Given the description of an element on the screen output the (x, y) to click on. 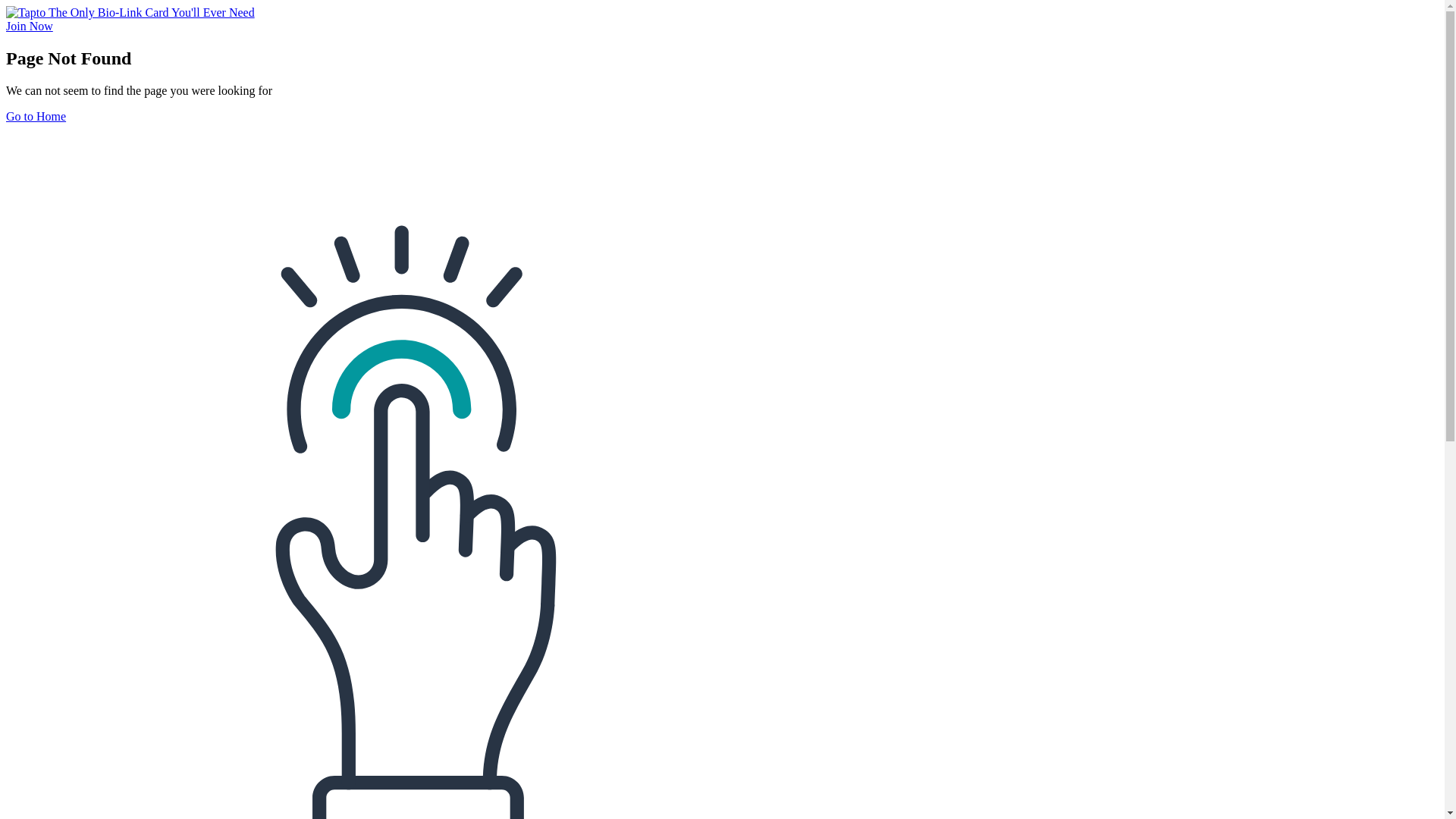
Join Now Element type: text (29, 25)
Go to Home Element type: text (35, 115)
